Given the description of an element on the screen output the (x, y) to click on. 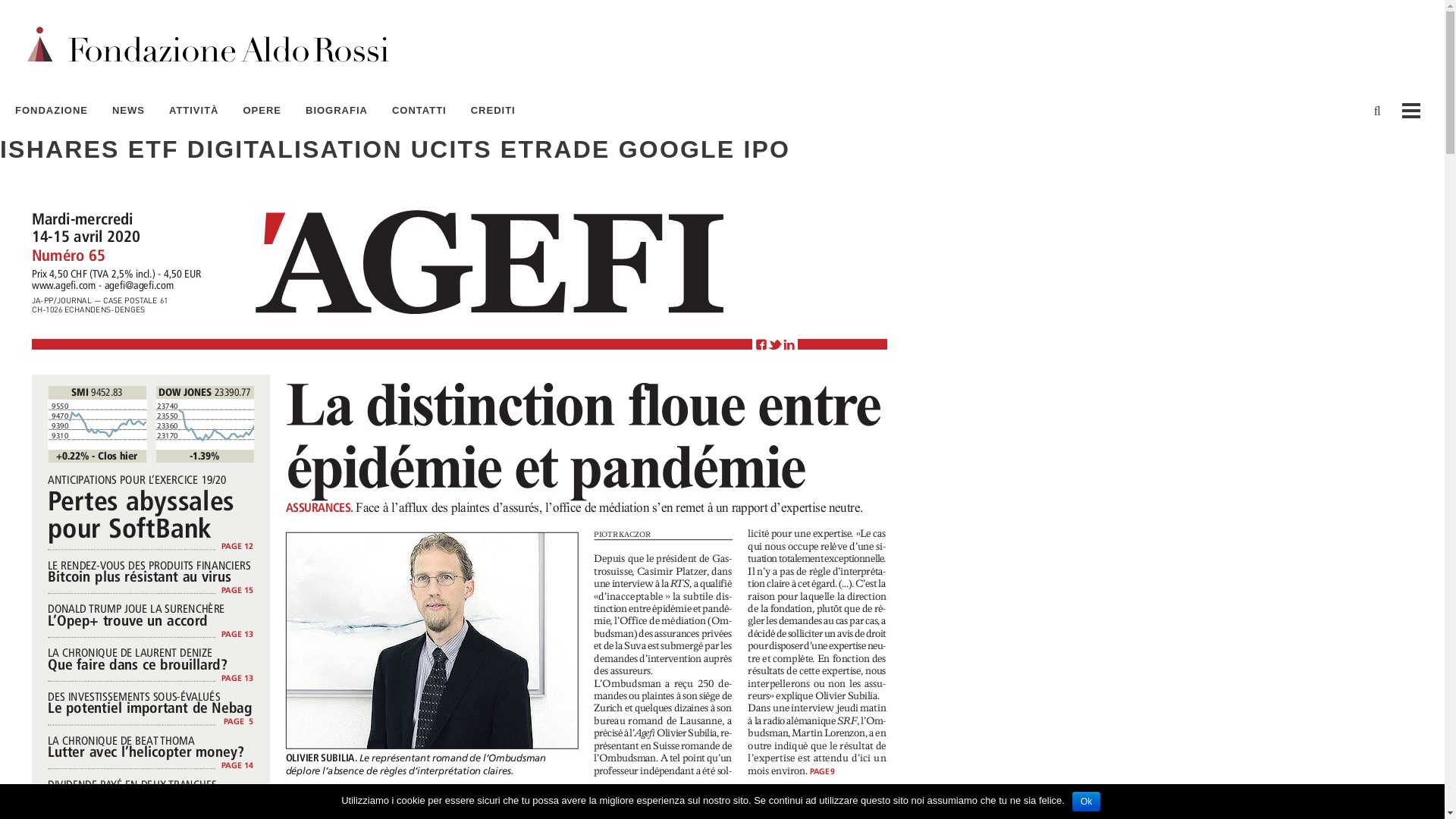
FONDAZIONE (57, 110)
CREDITI (492, 110)
NEWS (128, 110)
OPERE (262, 110)
CONTATTI (419, 110)
BIOGRAFIA (337, 110)
